Given the description of an element on the screen output the (x, y) to click on. 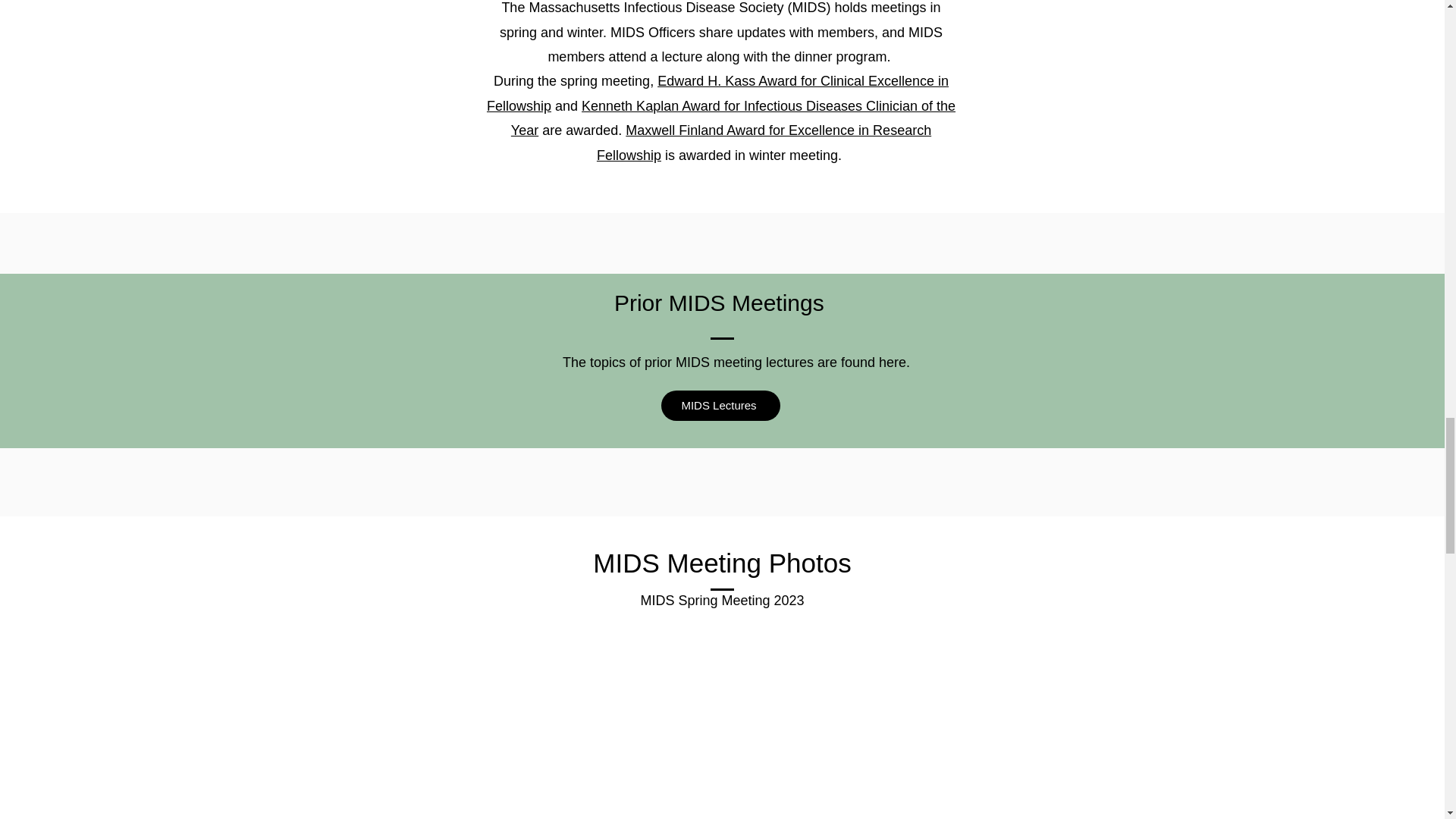
Edward H. Kass Award for Clinical Excellence in Fellowship (717, 93)
MIDS Lectures (720, 405)
Maxwell Finland Award for Excellence in Research Fellowship (763, 142)
